Given the description of an element on the screen output the (x, y) to click on. 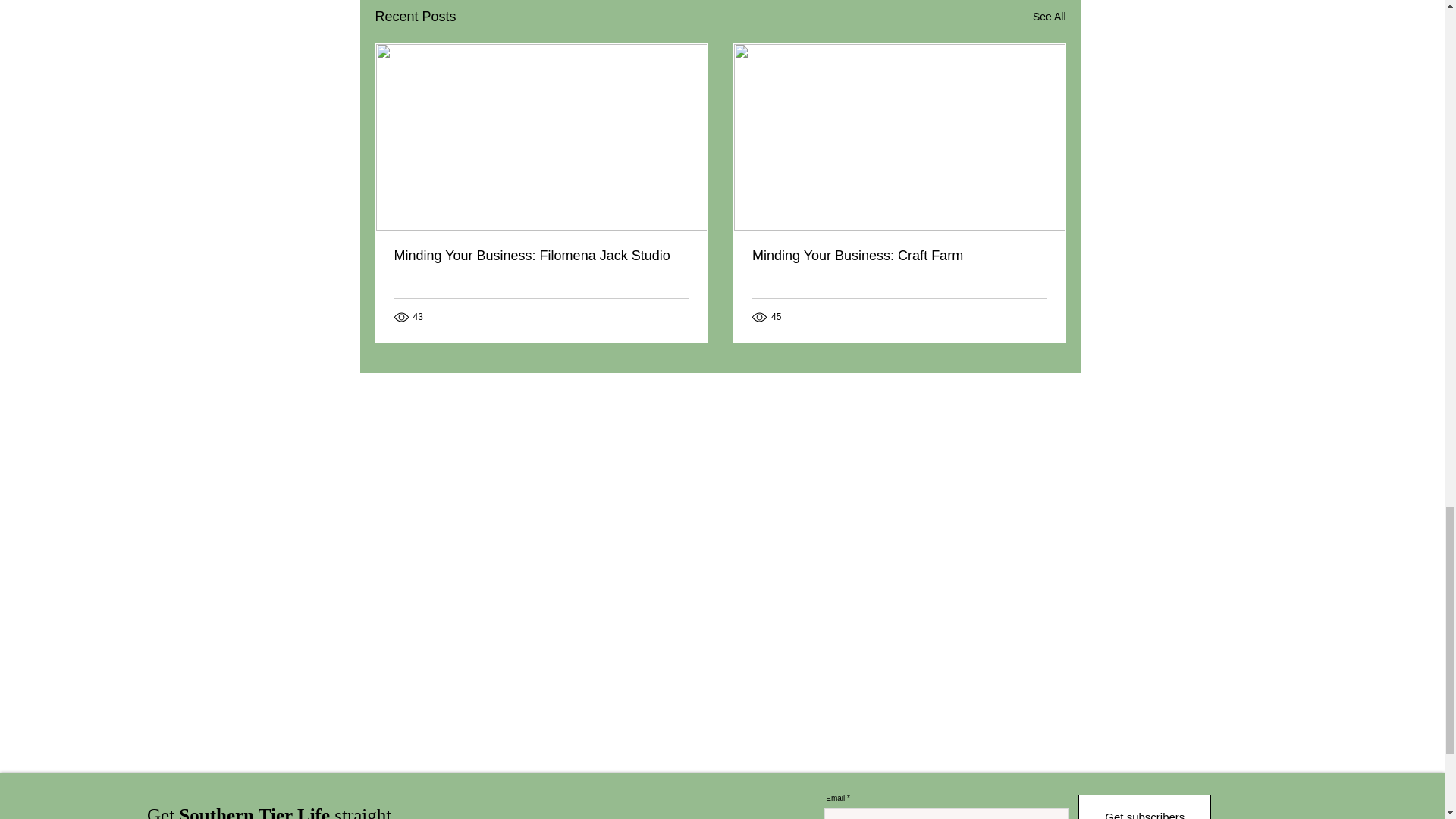
Minding Your Business: Filomena Jack Studio (541, 255)
See All (1048, 16)
Minding Your Business: Craft Farm (899, 255)
Get subscribers (1144, 806)
